Given the description of an element on the screen output the (x, y) to click on. 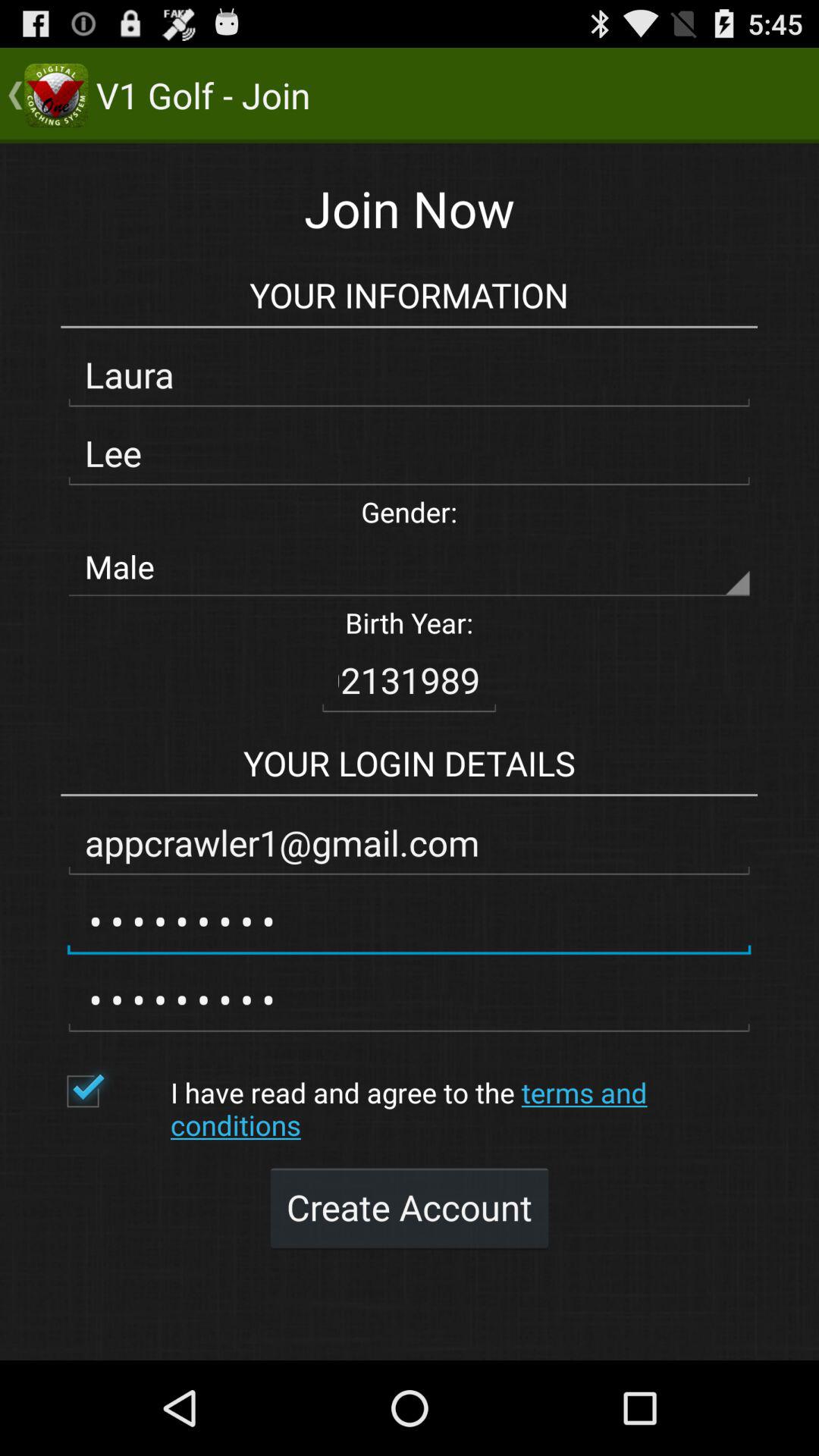
toggle checkbox (110, 1091)
